Given the description of an element on the screen output the (x, y) to click on. 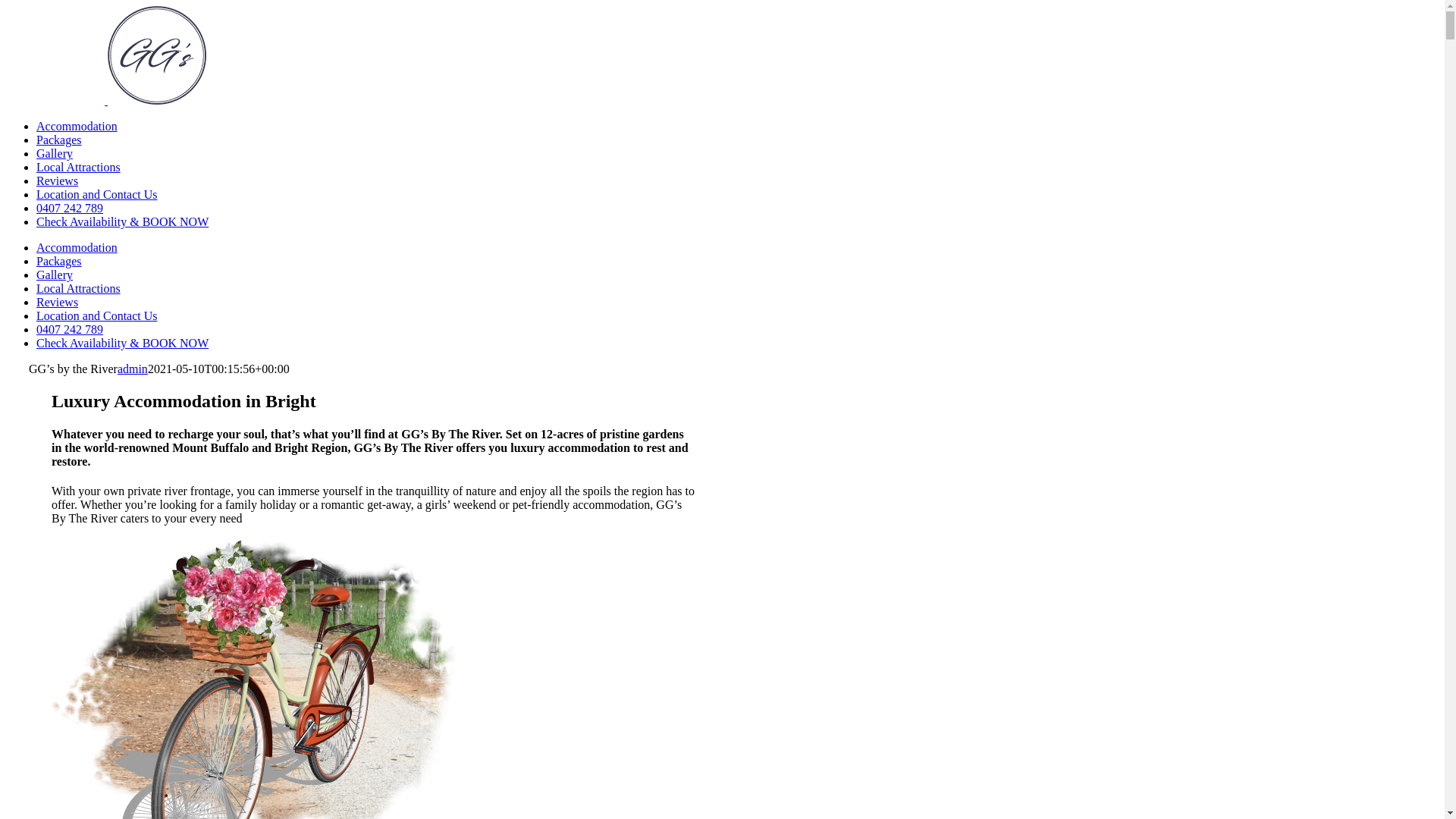
Skip to content Element type: text (5, 5)
Packages Element type: text (58, 139)
Accommodation Element type: text (76, 125)
0407 242 789 Element type: text (69, 329)
Location and Contact Us Element type: text (96, 194)
Gallery Element type: text (54, 274)
Reviews Element type: text (57, 301)
Local Attractions Element type: text (78, 166)
Gallery Element type: text (54, 153)
Packages Element type: text (58, 260)
Reviews Element type: text (57, 180)
Location and Contact Us Element type: text (96, 315)
Check Availability & BOOK NOW Element type: text (122, 342)
Accommodation Element type: text (76, 247)
admin Element type: text (132, 368)
Local Attractions Element type: text (78, 288)
Check Availability & BOOK NOW Element type: text (122, 221)
0407 242 789 Element type: text (69, 207)
